Given the description of an element on the screen output the (x, y) to click on. 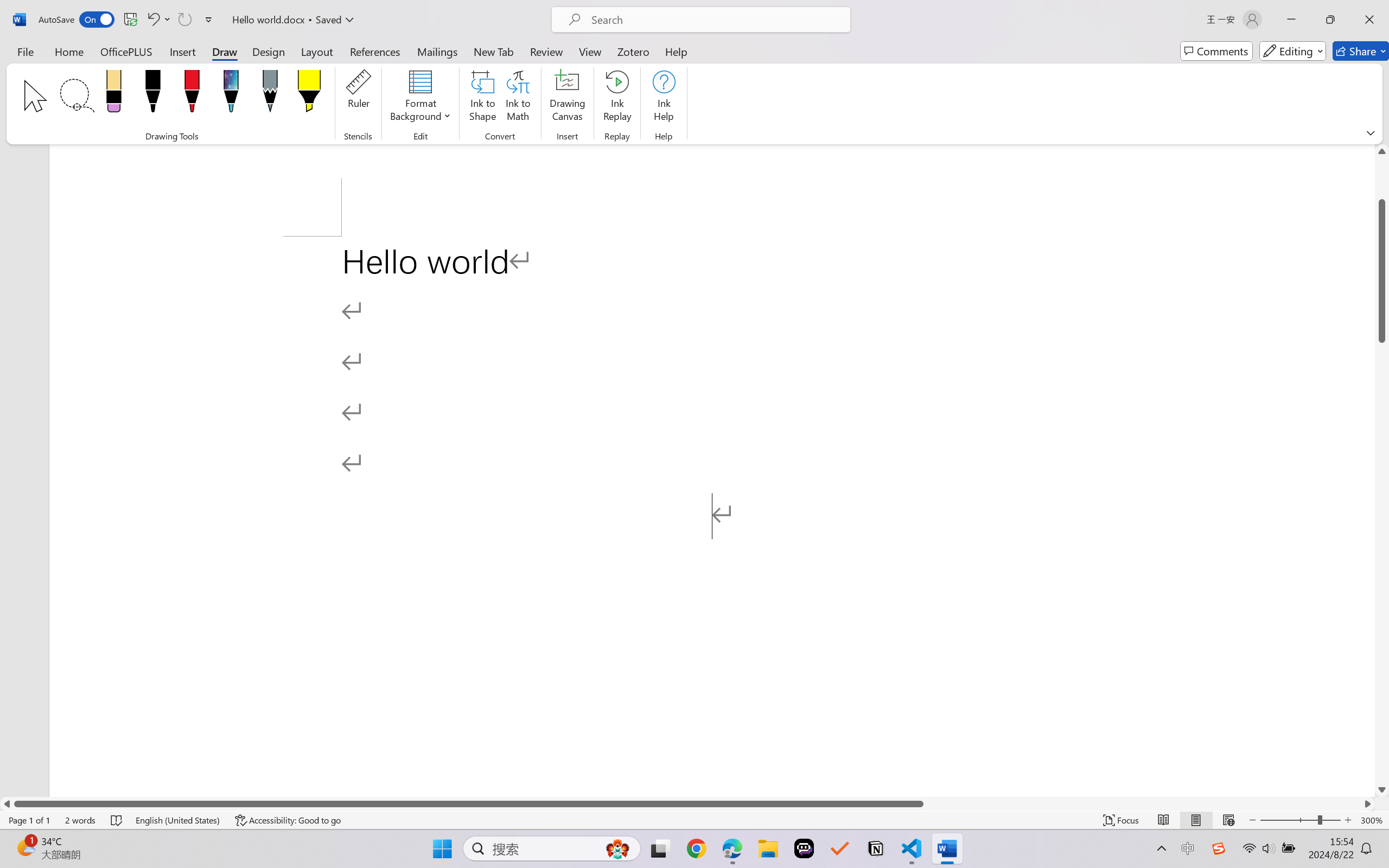
Pen: Galaxy, 1 mm (230, 94)
Insert (182, 51)
Line down (1382, 789)
Page Number Page 1 of 1 (29, 819)
Zotero (632, 51)
Zoom In (1348, 819)
Column right (1368, 803)
AutomationID: DynamicSearchBoxGleamImage (617, 848)
Word Count 2 words (80, 819)
Layout (316, 51)
Home (69, 51)
Page 1 content (711, 516)
Ink to Shape (483, 97)
Help (675, 51)
